Given the description of an element on the screen output the (x, y) to click on. 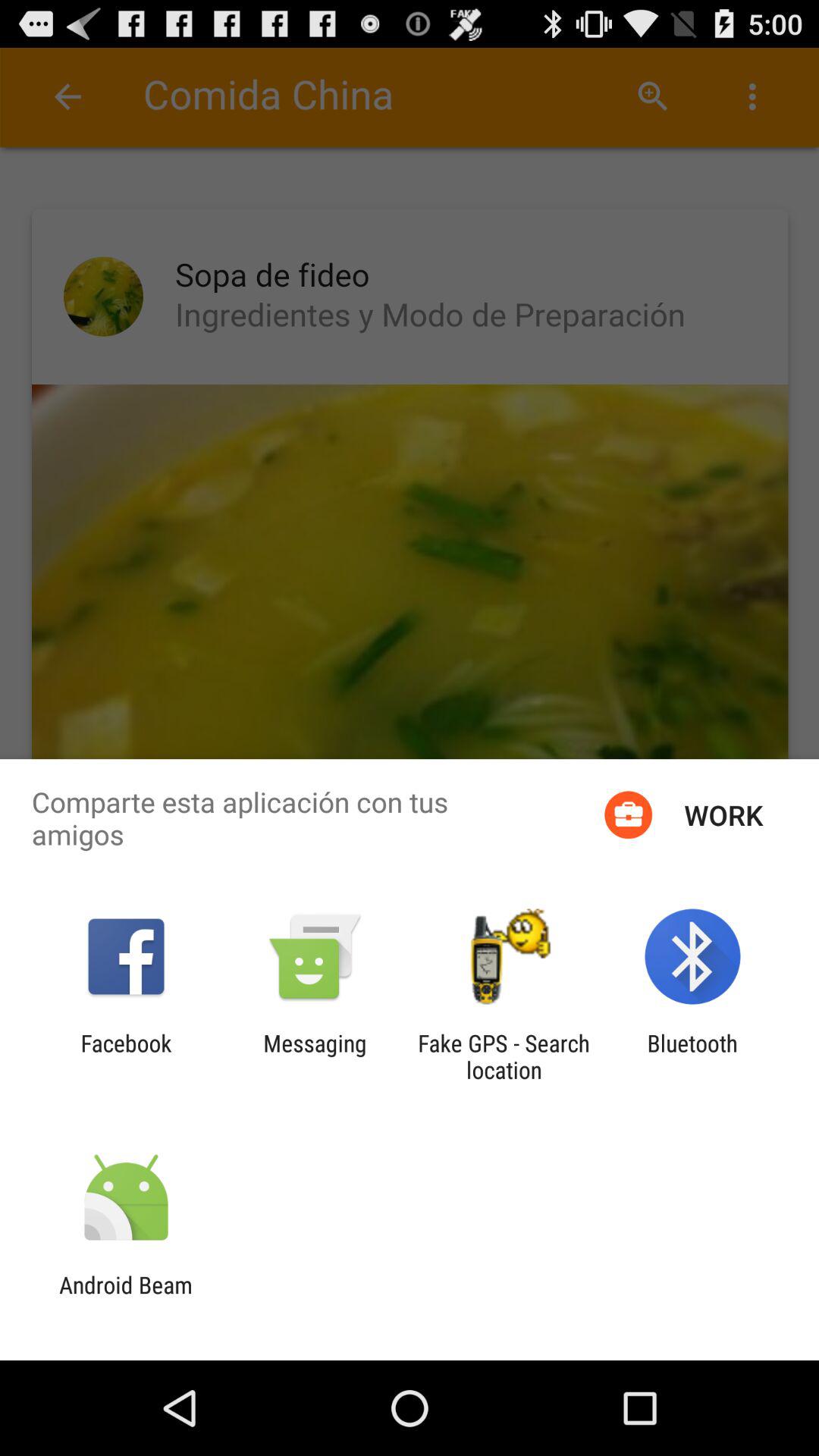
tap the bluetooth item (692, 1056)
